Given the description of an element on the screen output the (x, y) to click on. 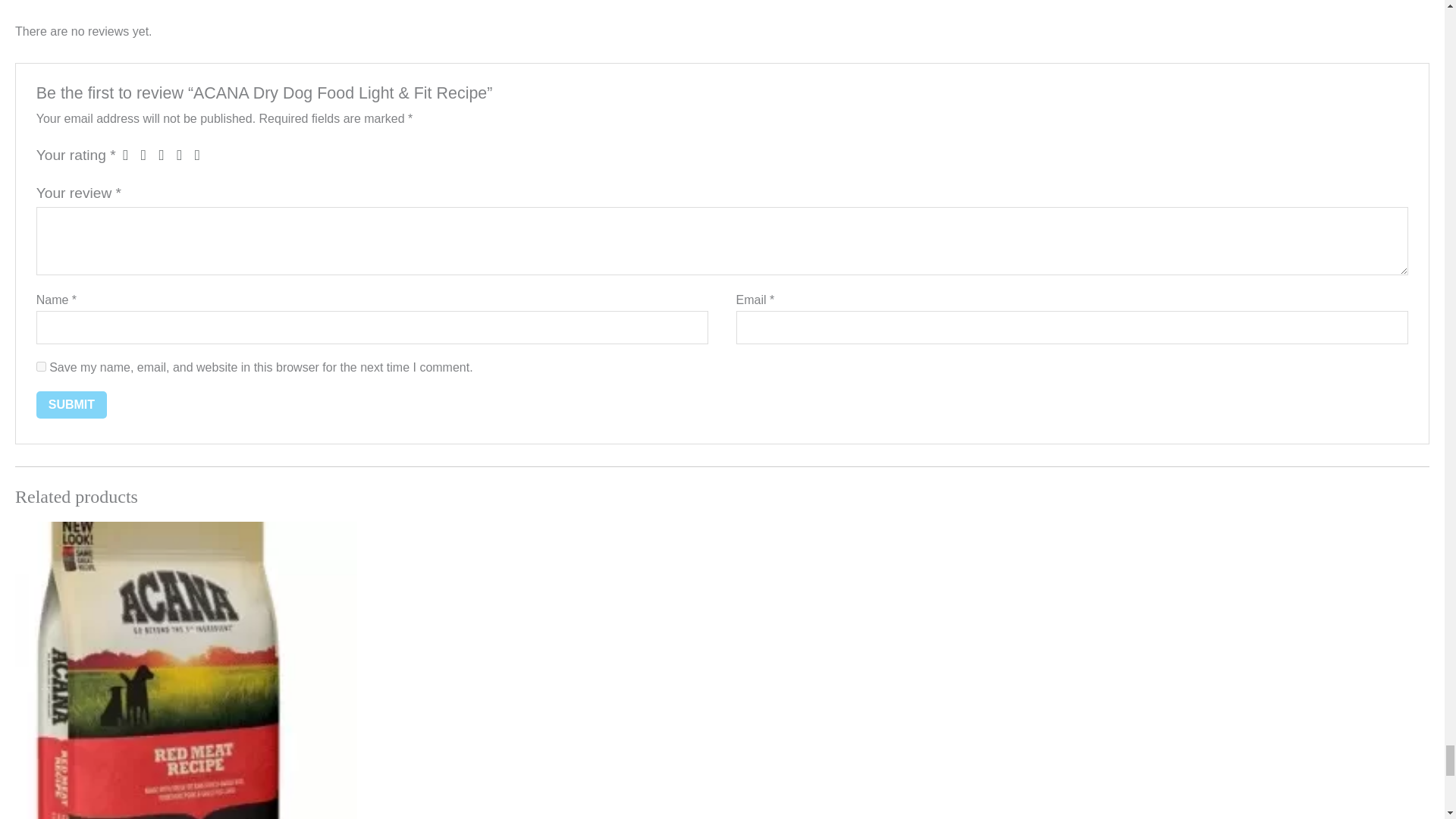
Submit (71, 404)
yes (41, 366)
